Given the description of an element on the screen output the (x, y) to click on. 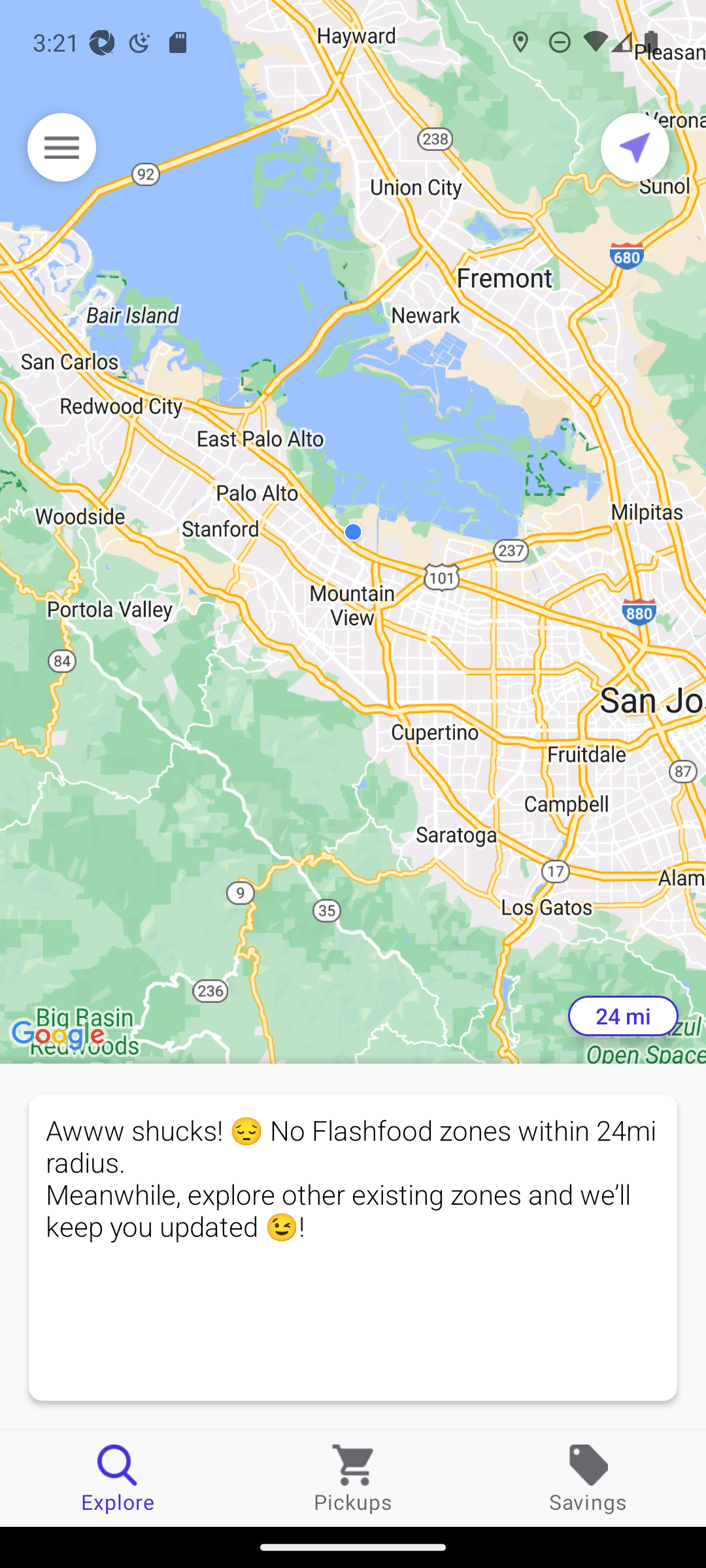
Menu (61, 146)
Current location (634, 146)
24 mi (623, 1015)
Pickups (352, 1478)
Savings (588, 1478)
